Given the description of an element on the screen output the (x, y) to click on. 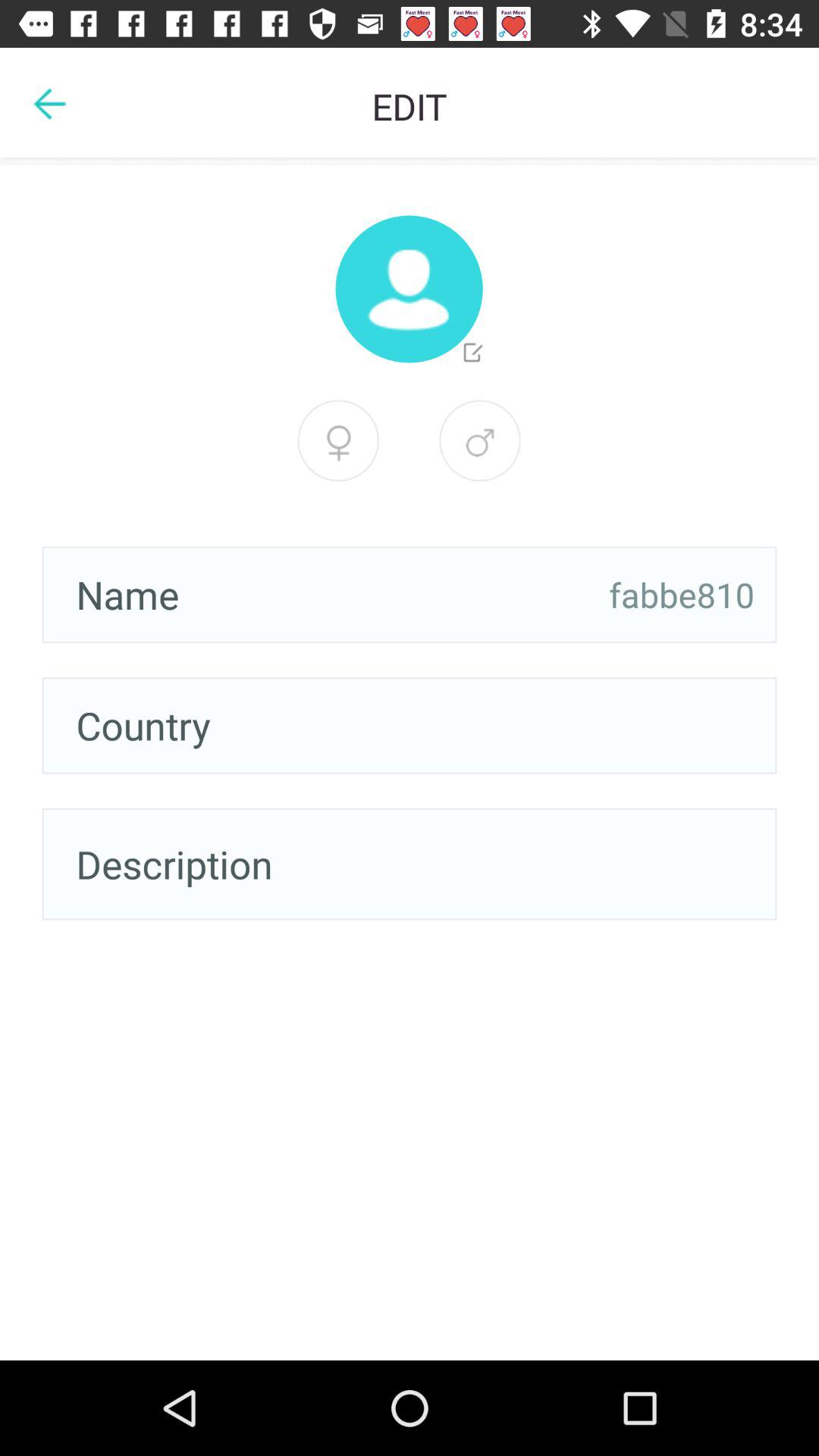
female option (479, 440)
